Given the description of an element on the screen output the (x, y) to click on. 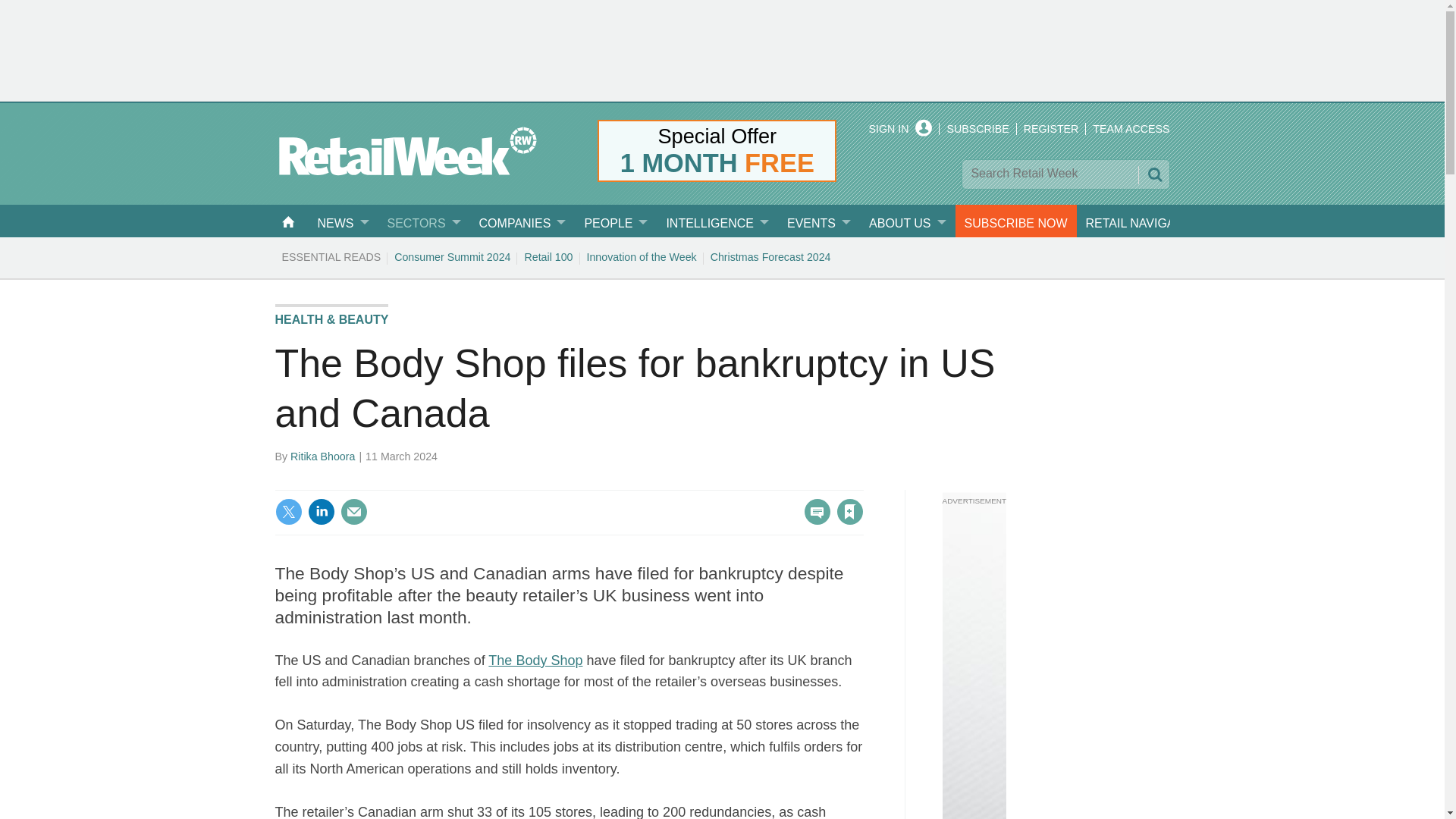
Consumer Summit 2024 (451, 256)
Retail 100 (547, 256)
Christmas Forecast 2024 (770, 256)
No comments (812, 520)
TEAM ACCESS (1131, 128)
Share this on Linked in (320, 511)
1 MONTH FREE (716, 163)
SIGN IN (901, 128)
Innovation of the Week (641, 256)
Email this article (352, 511)
REGISTER (1050, 128)
SEARCH (1153, 174)
Share this on Twitter (288, 511)
SUBSCRIBE (977, 128)
